Given the description of an element on the screen output the (x, y) to click on. 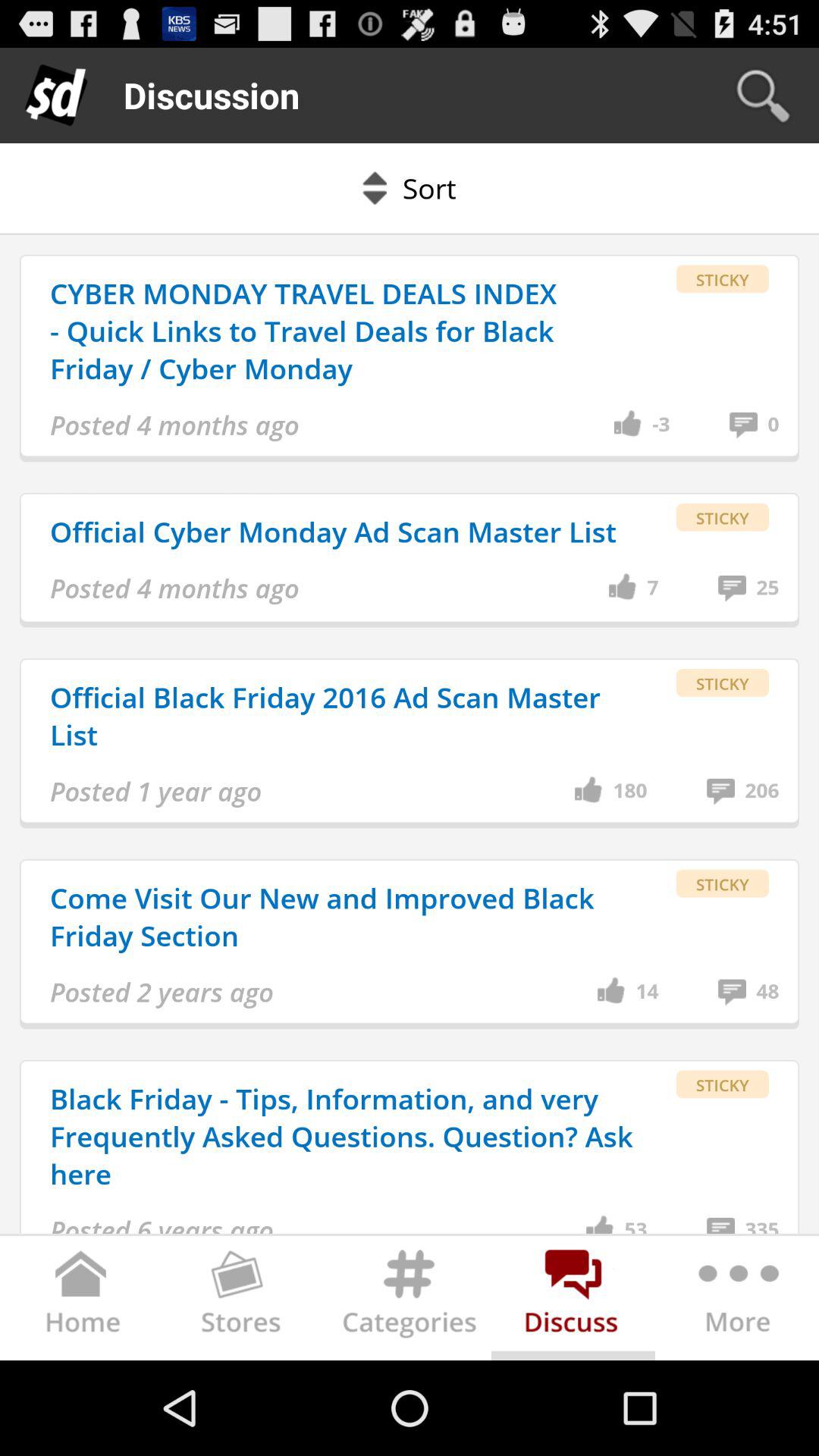
open app above the come visit our item (155, 791)
